Given the description of an element on the screen output the (x, y) to click on. 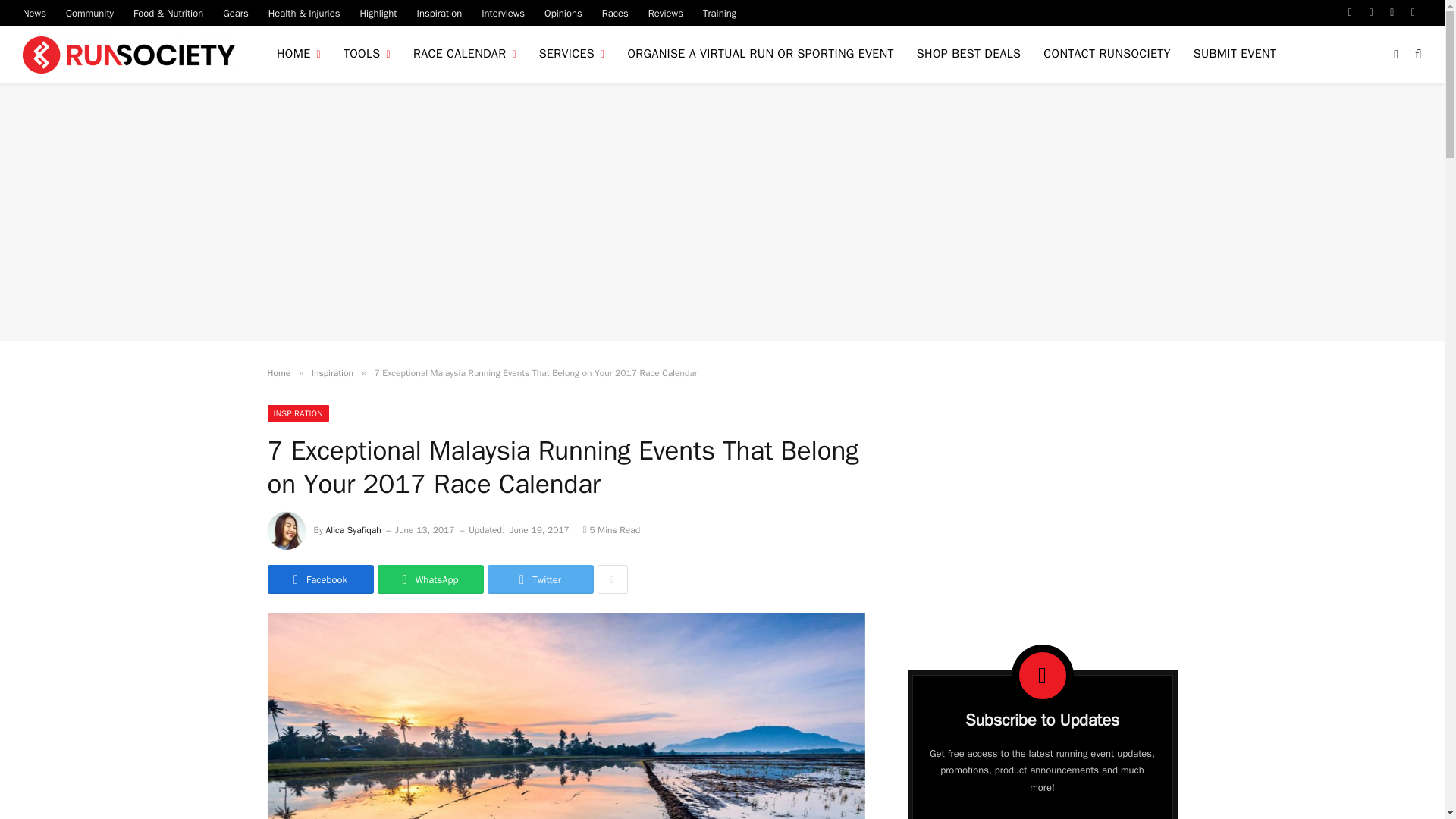
Switch to Dark Design - easier on eyes. (1396, 54)
Posts by Alica Syafiqah (353, 530)
Share on WhatsApp (430, 579)
Share on Facebook (319, 579)
